Given the description of an element on the screen output the (x, y) to click on. 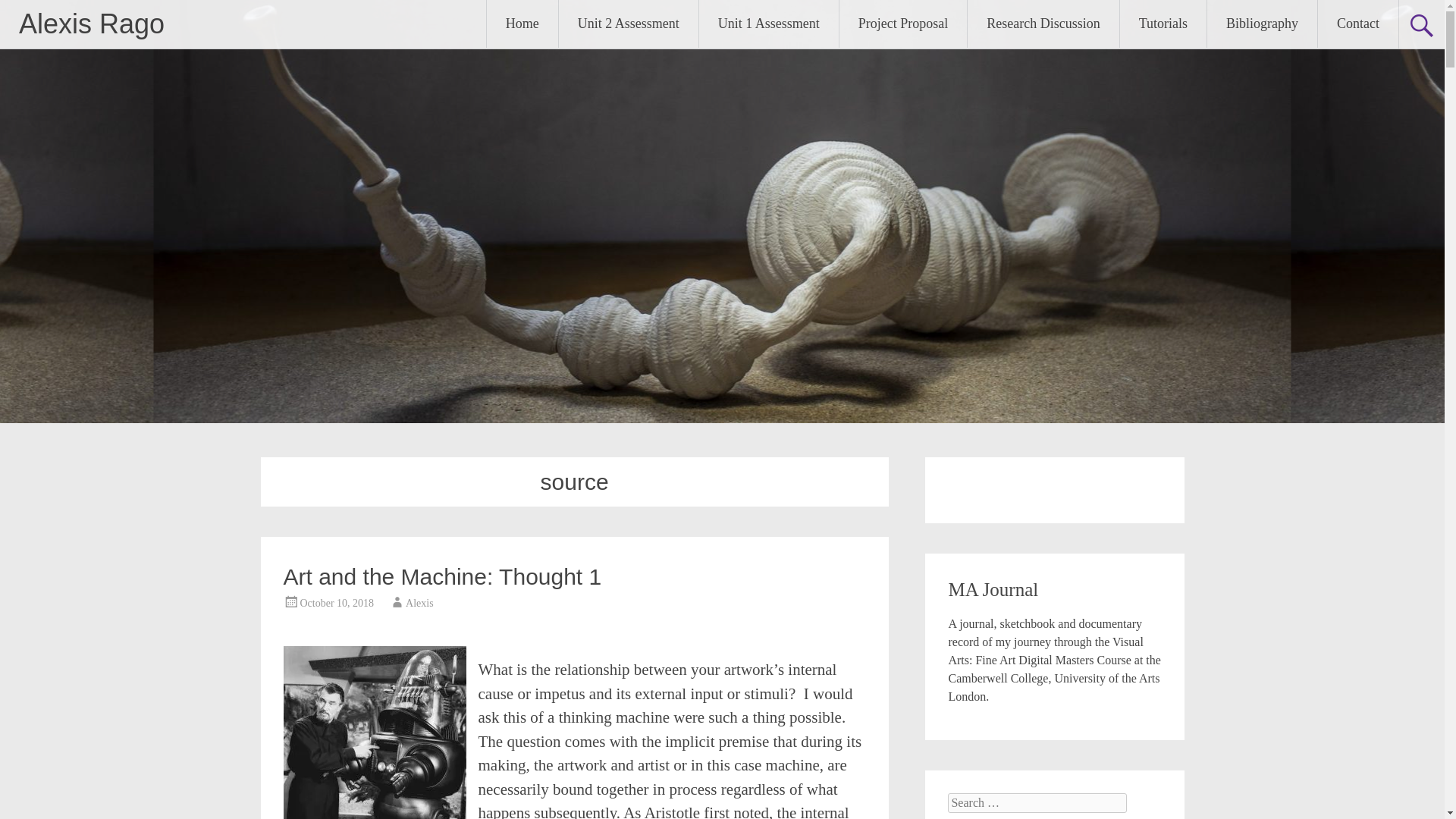
Project Proposal (904, 23)
October 10, 2018 (336, 603)
Contact (1357, 23)
Alexis Rago (91, 23)
Alexis Rago (91, 23)
Alexis (419, 603)
Home (521, 23)
Tutorials (1163, 23)
Bibliography (1262, 23)
Unit 1 Assessment (768, 23)
Follow Button (1053, 487)
Search (26, 12)
Art and the Machine: Thought 1 (442, 576)
Research Discussion (1043, 23)
Unit 2 Assessment (628, 23)
